Given the description of an element on the screen output the (x, y) to click on. 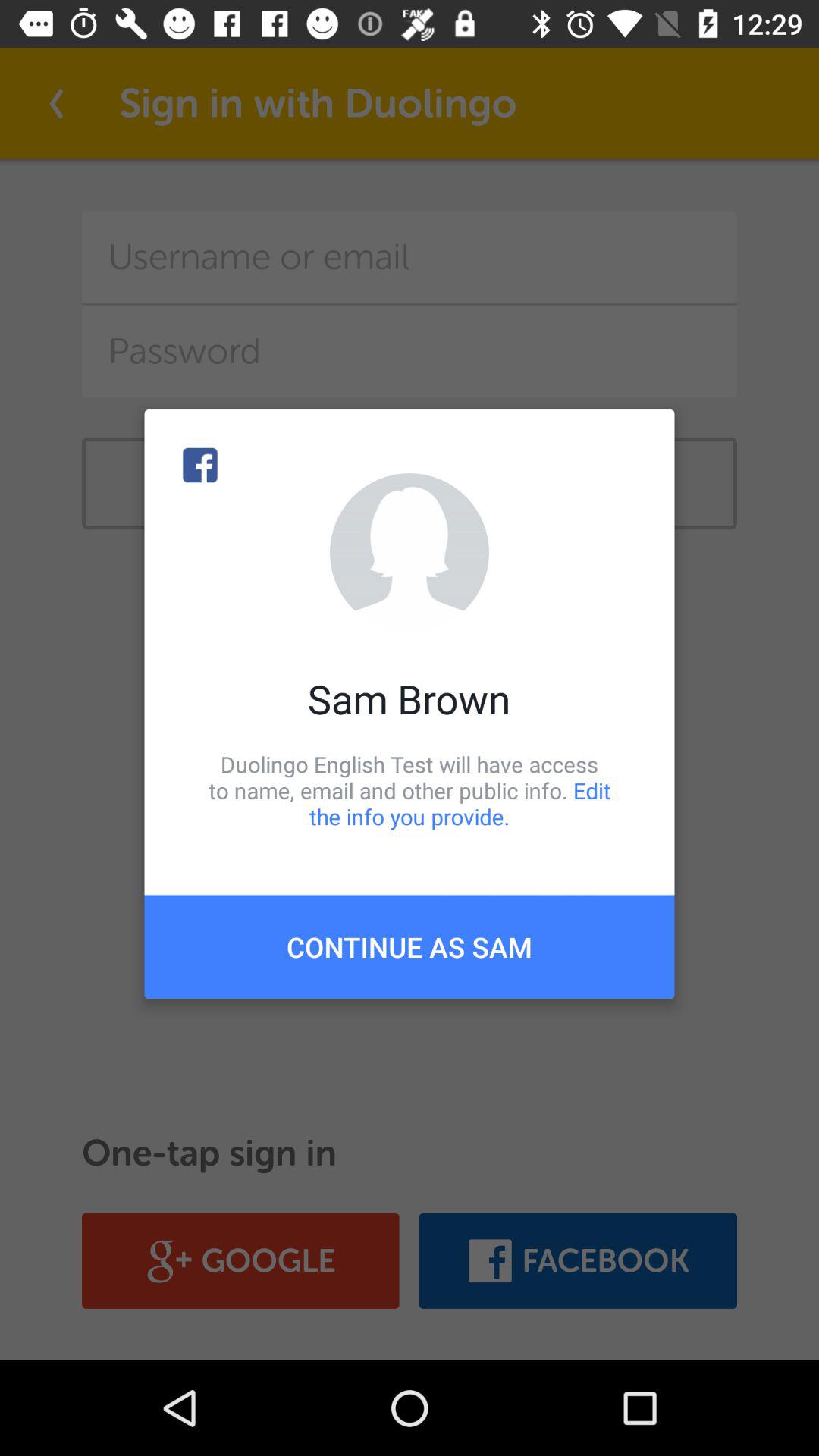
choose item below sam brown icon (409, 790)
